Given the description of an element on the screen output the (x, y) to click on. 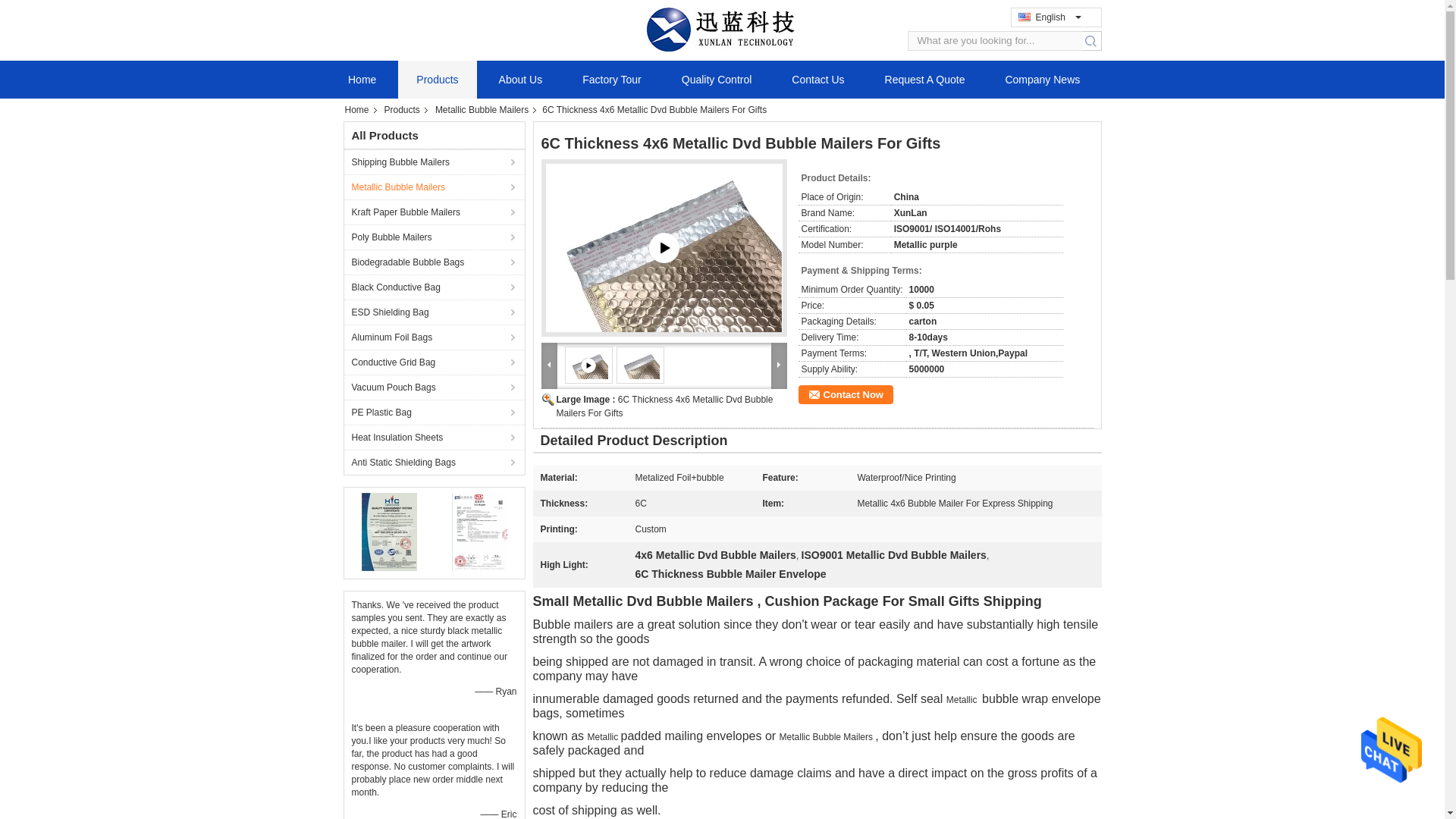
Home (362, 79)
Metallic Bubble Mailers (483, 109)
Company News (1042, 79)
About Us (520, 79)
Products (436, 79)
Request A Quote (925, 79)
Factory Tour (611, 79)
Poly Bubble Mailers (433, 236)
Quality Control (716, 79)
Contact Us (817, 79)
Products (403, 109)
Home (360, 109)
English (1047, 17)
Metallic Bubble Mailers (433, 186)
Shipping Bubble Mailers (433, 161)
